Given the description of an element on the screen output the (x, y) to click on. 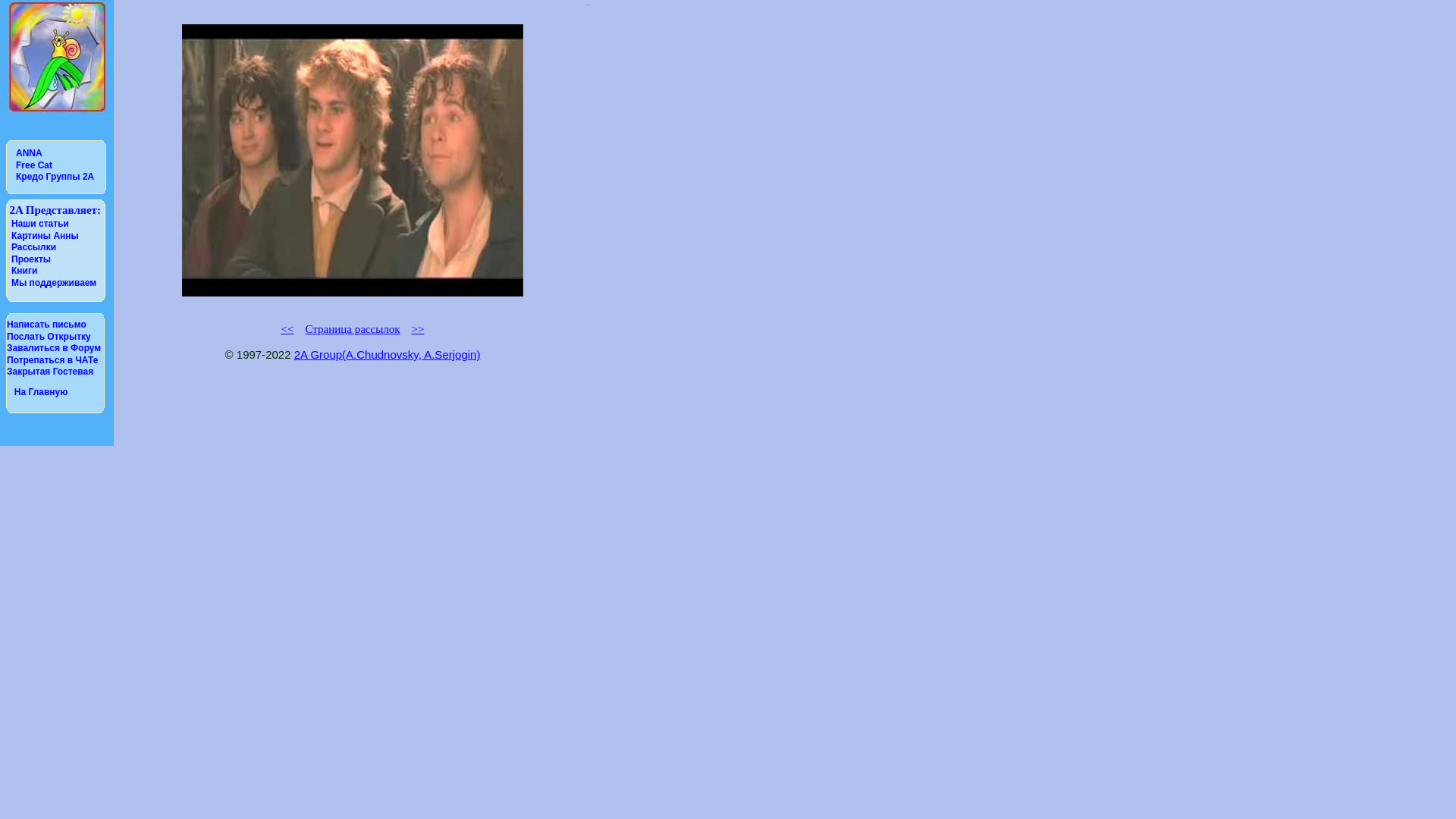
2A Group(A.Chudnovsky, A.Serjogin) Element type: text (387, 354)
ANNA Element type: text (28, 152)
>> Element type: text (417, 329)
<< Element type: text (287, 329)
Free Cat Element type: text (33, 165)
